Given the description of an element on the screen output the (x, y) to click on. 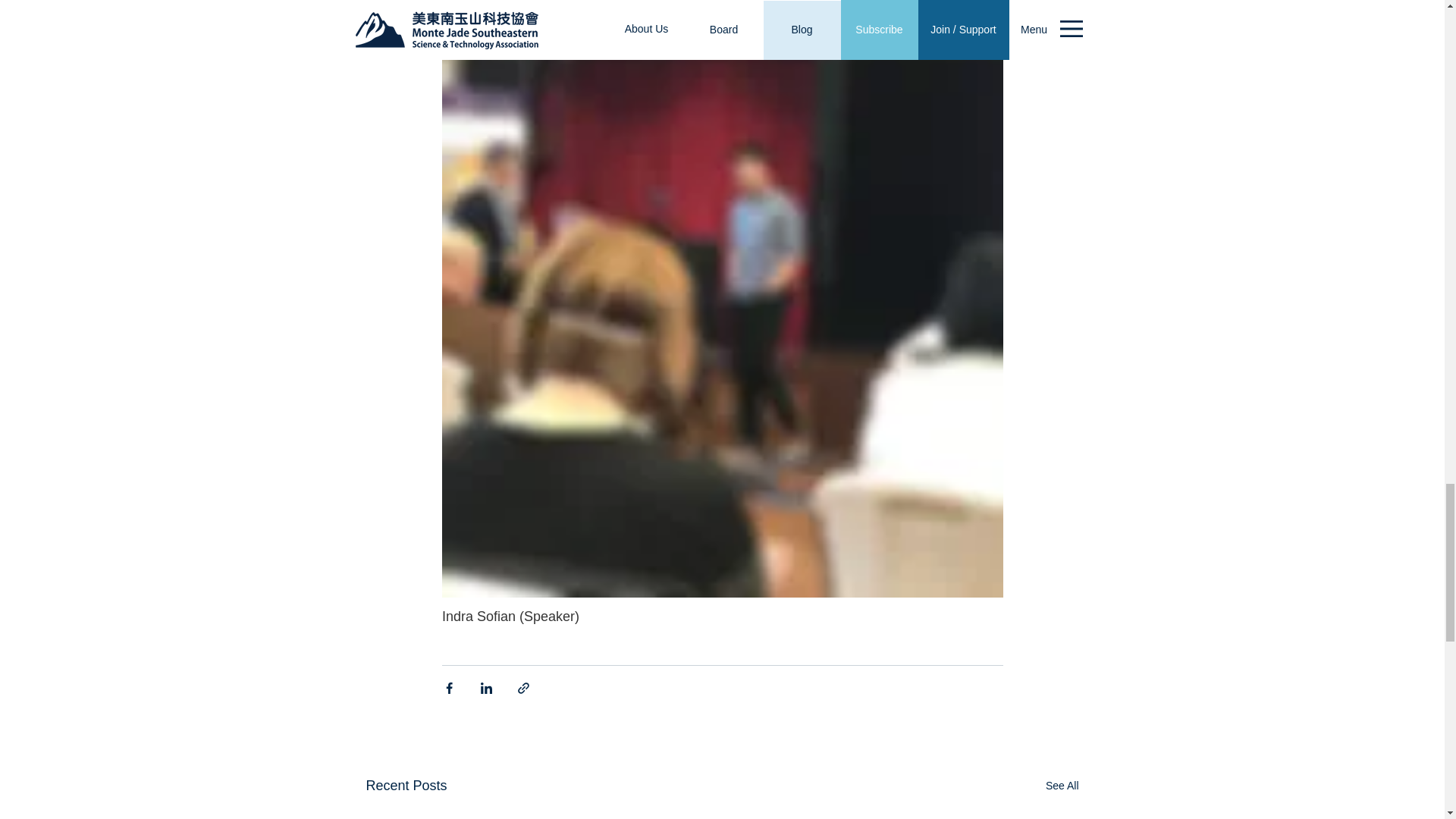
See All (1061, 785)
